Given the description of an element on the screen output the (x, y) to click on. 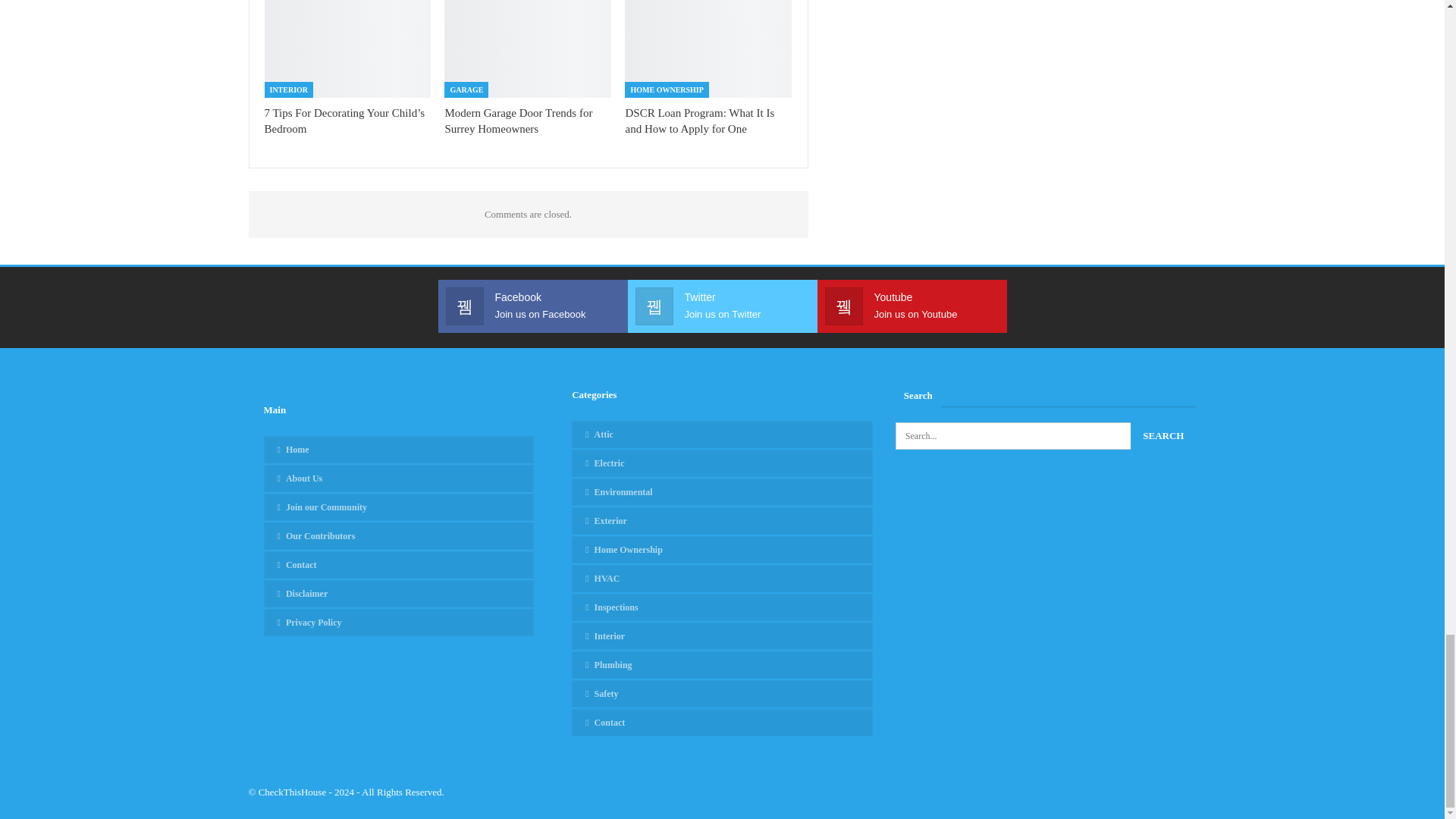
Modern Garage Door Trends for Surrey Homeowners (518, 121)
Modern Garage Door Trends for Surrey Homeowners (527, 48)
DSCR Loan Program: What It Is and How to Apply for One (708, 48)
Search (1163, 435)
Search (1163, 435)
